Given the description of an element on the screen output the (x, y) to click on. 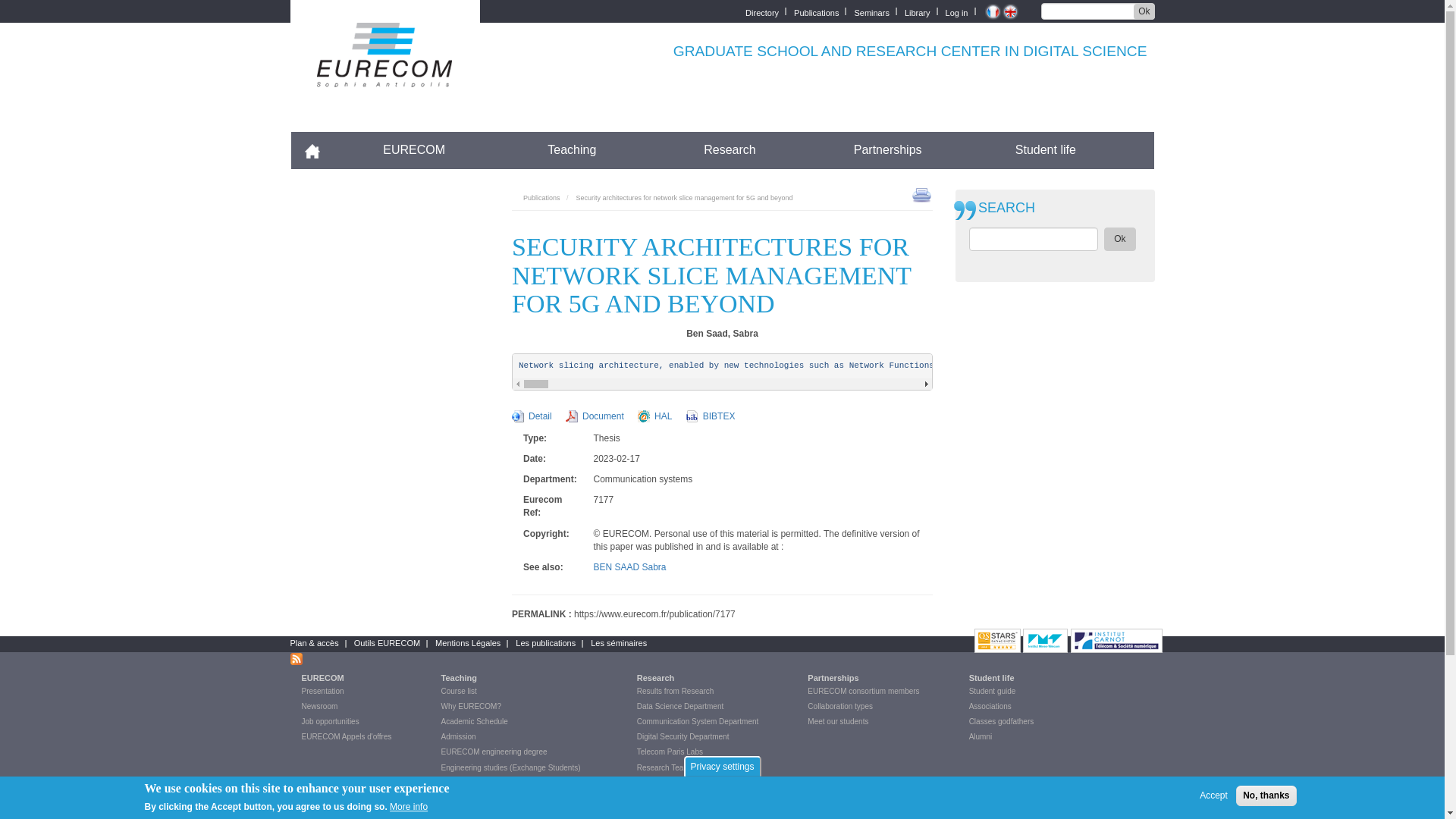
English (1009, 11)
Syndiquer (295, 658)
Home (384, 76)
French (992, 11)
